Given the description of an element on the screen output the (x, y) to click on. 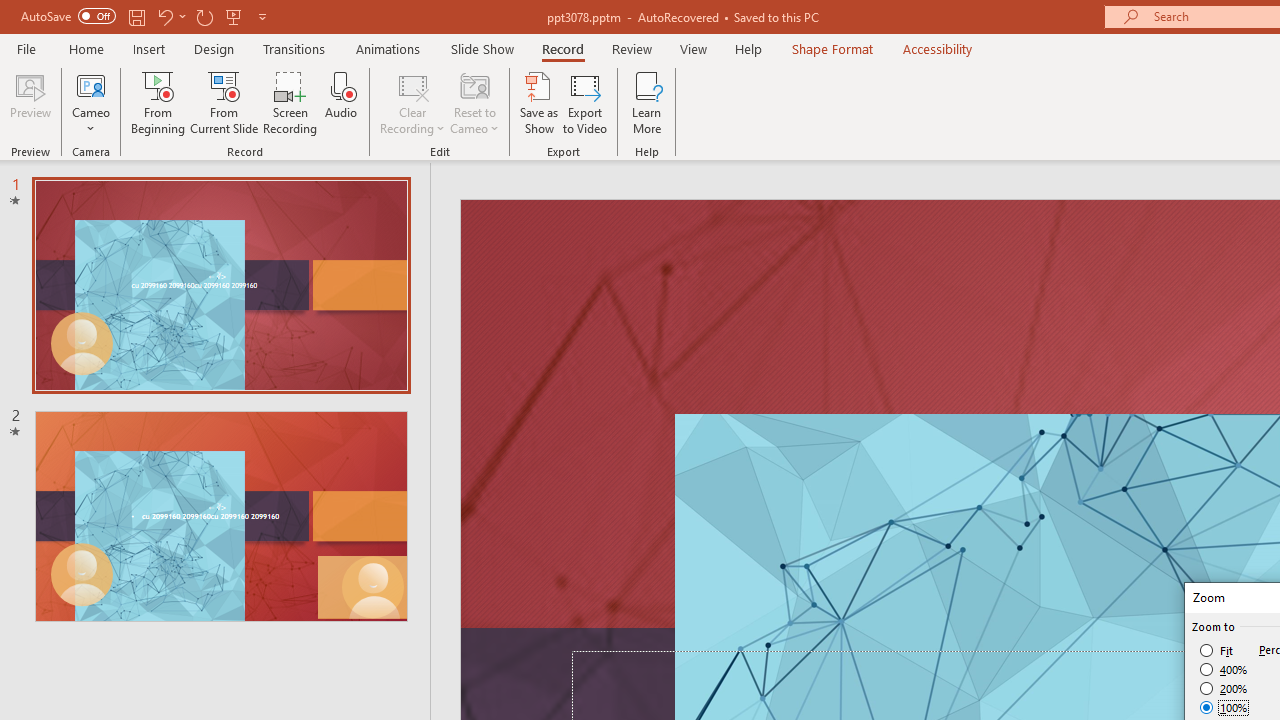
100% (1224, 707)
